Given the description of an element on the screen output the (x, y) to click on. 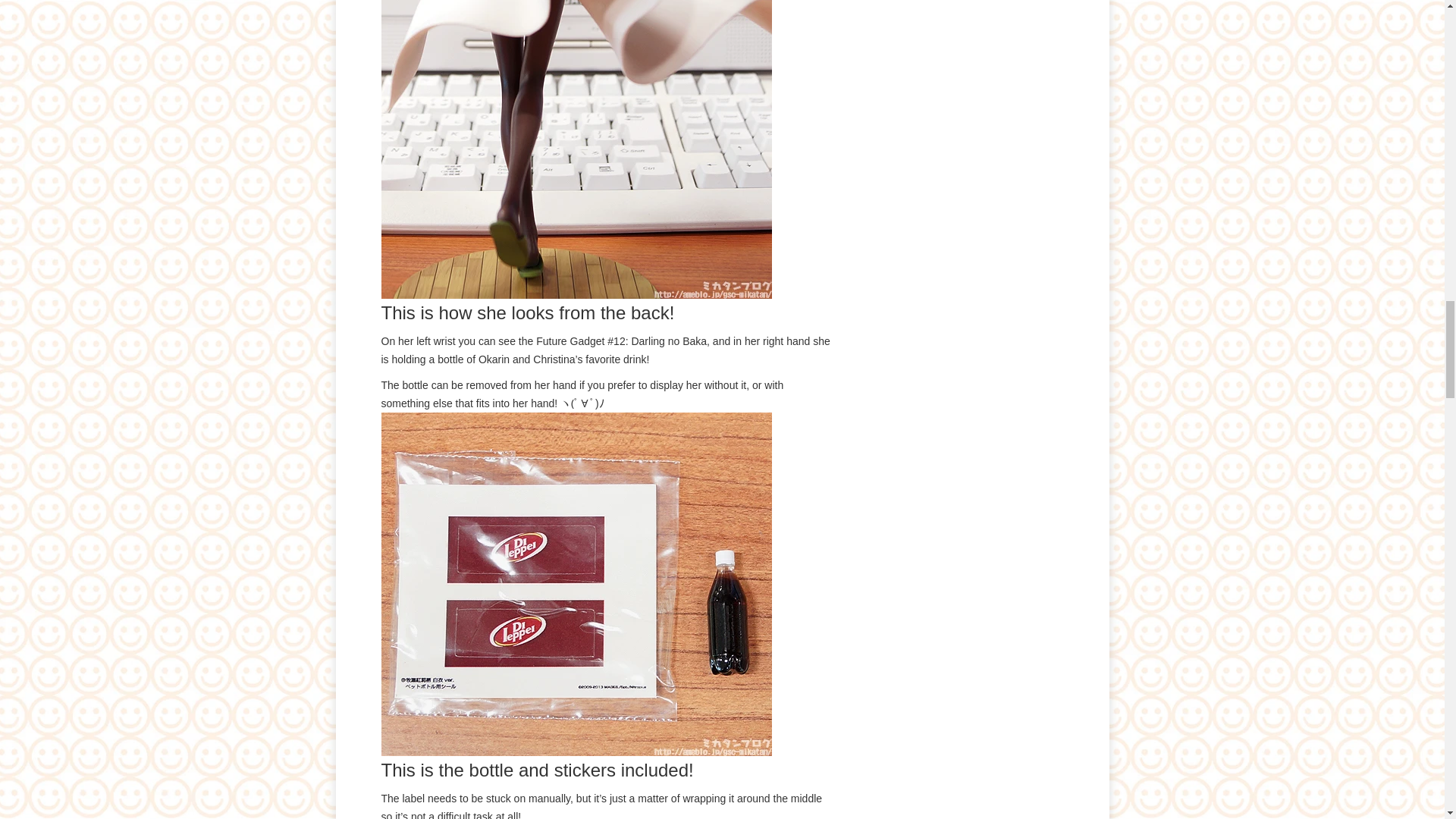
003 (575, 149)
